Given the description of an element on the screen output the (x, y) to click on. 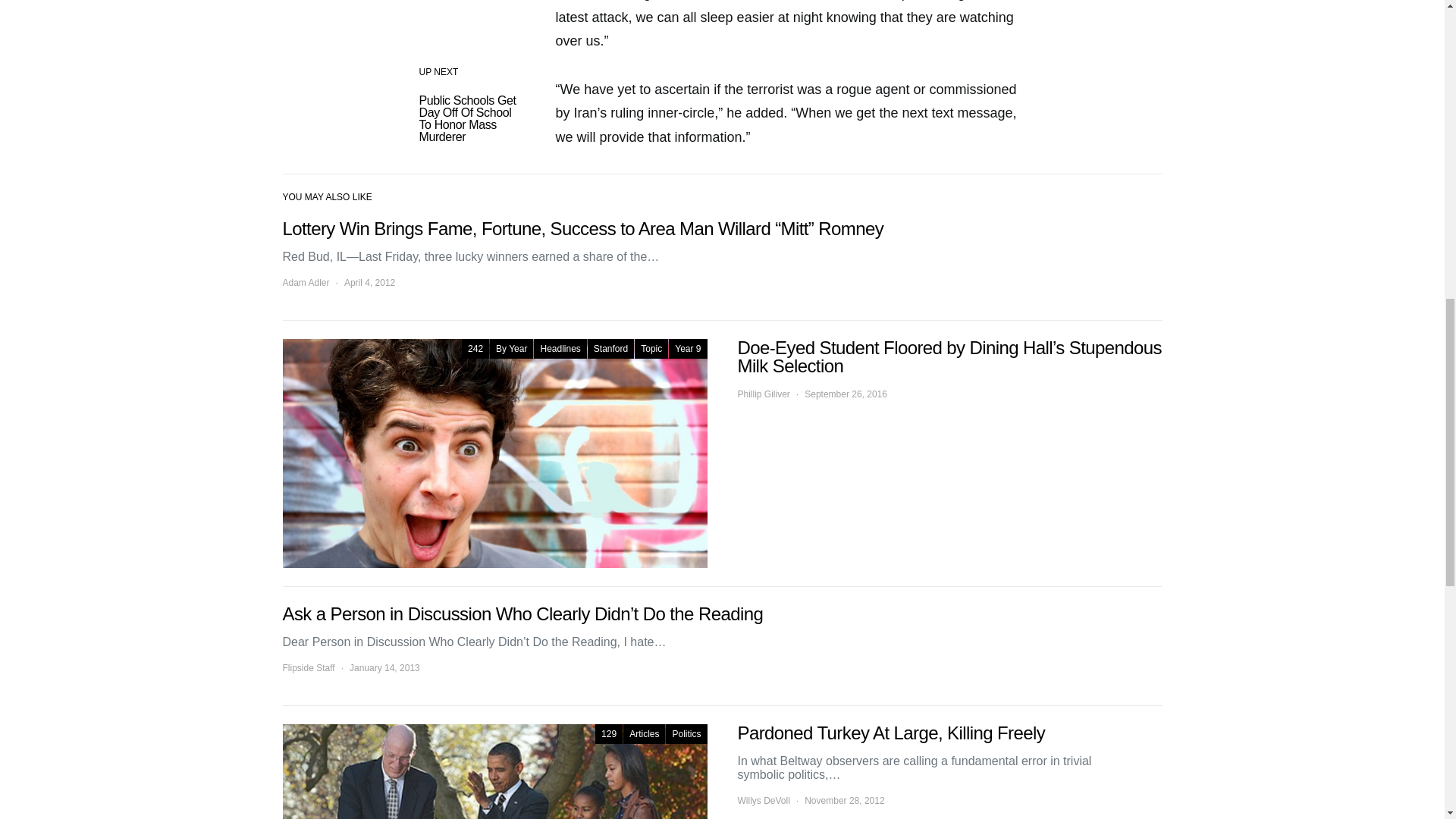
View all posts by Flipside Staff (308, 667)
View all posts by Adam Adler (305, 282)
View all posts by Willys DeVoll (762, 800)
View all posts by Phillip Giliver (762, 394)
